Given the description of an element on the screen output the (x, y) to click on. 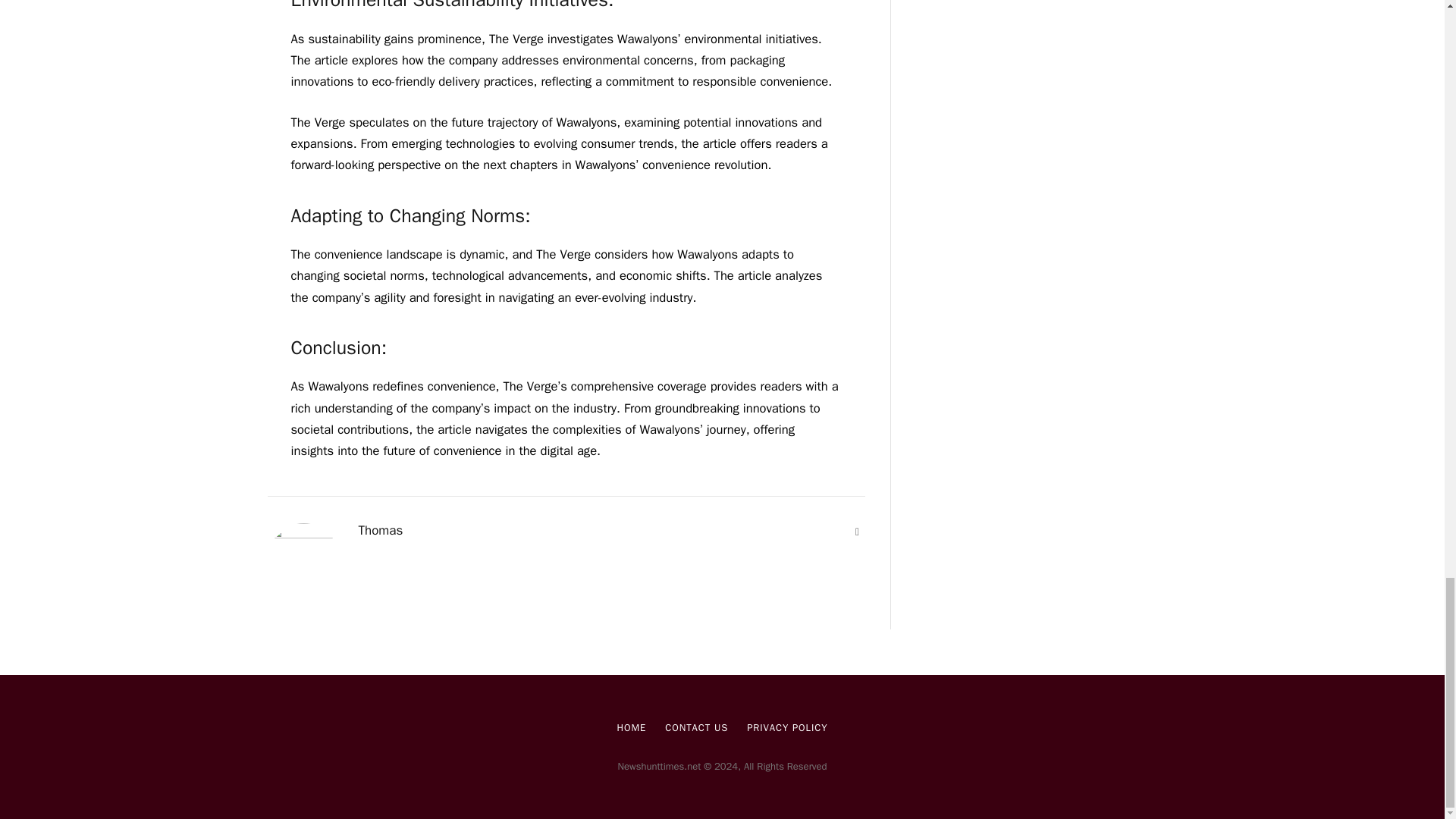
Thomas (380, 530)
Posts by Thomas (380, 530)
Website (856, 531)
Website (856, 531)
